Given the description of an element on the screen output the (x, y) to click on. 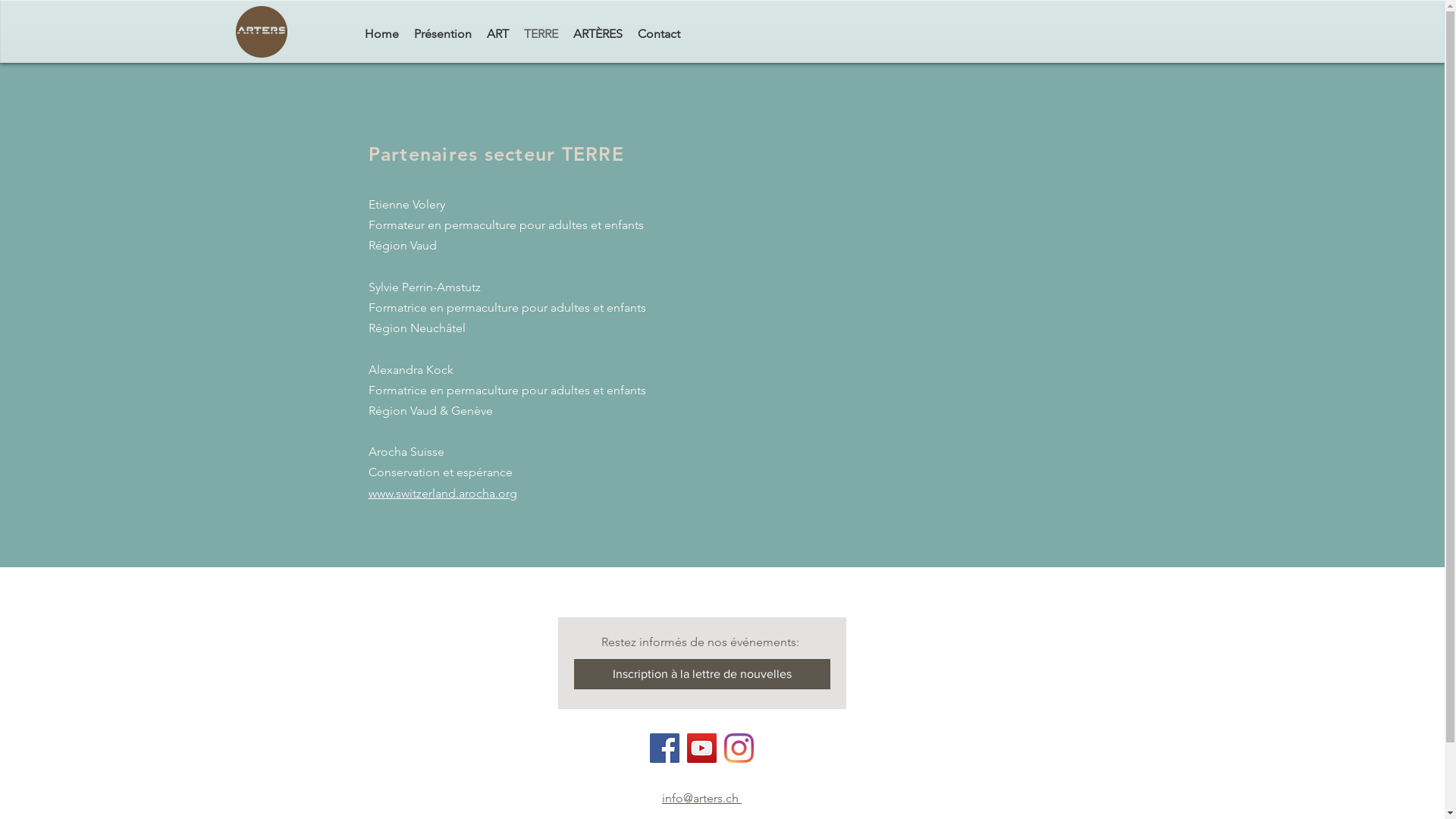
Contact Element type: text (658, 34)
www.switzerland.arocha.org Element type: text (442, 493)
info@arters.ch  Element type: text (701, 797)
TERRE Element type: text (539, 34)
ART Element type: text (497, 34)
Home Element type: text (380, 34)
arters_transparent.png Element type: hover (260, 31)
